Given the description of an element on the screen output the (x, y) to click on. 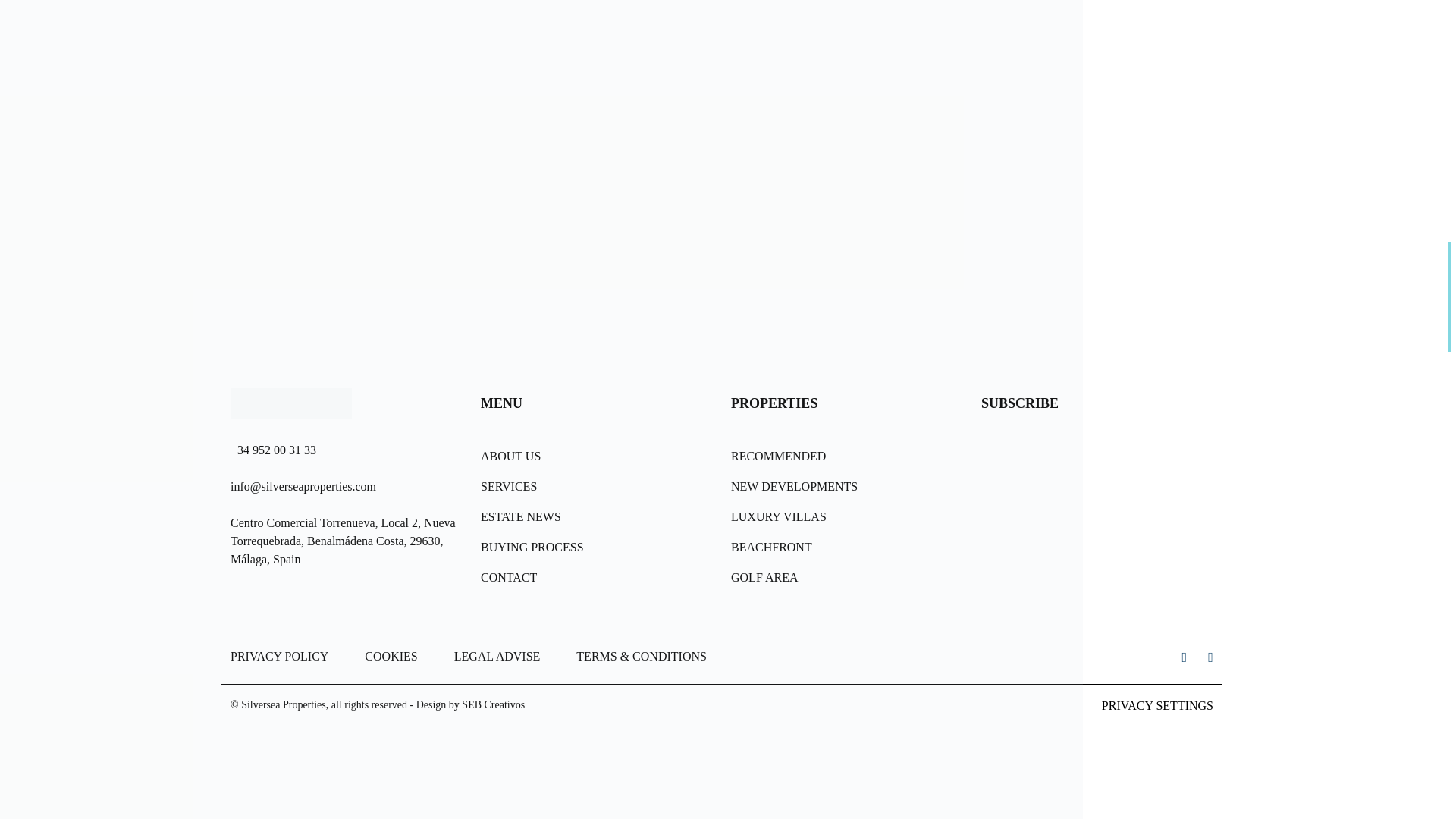
ABOUT US (596, 456)
